Given the description of an element on the screen output the (x, y) to click on. 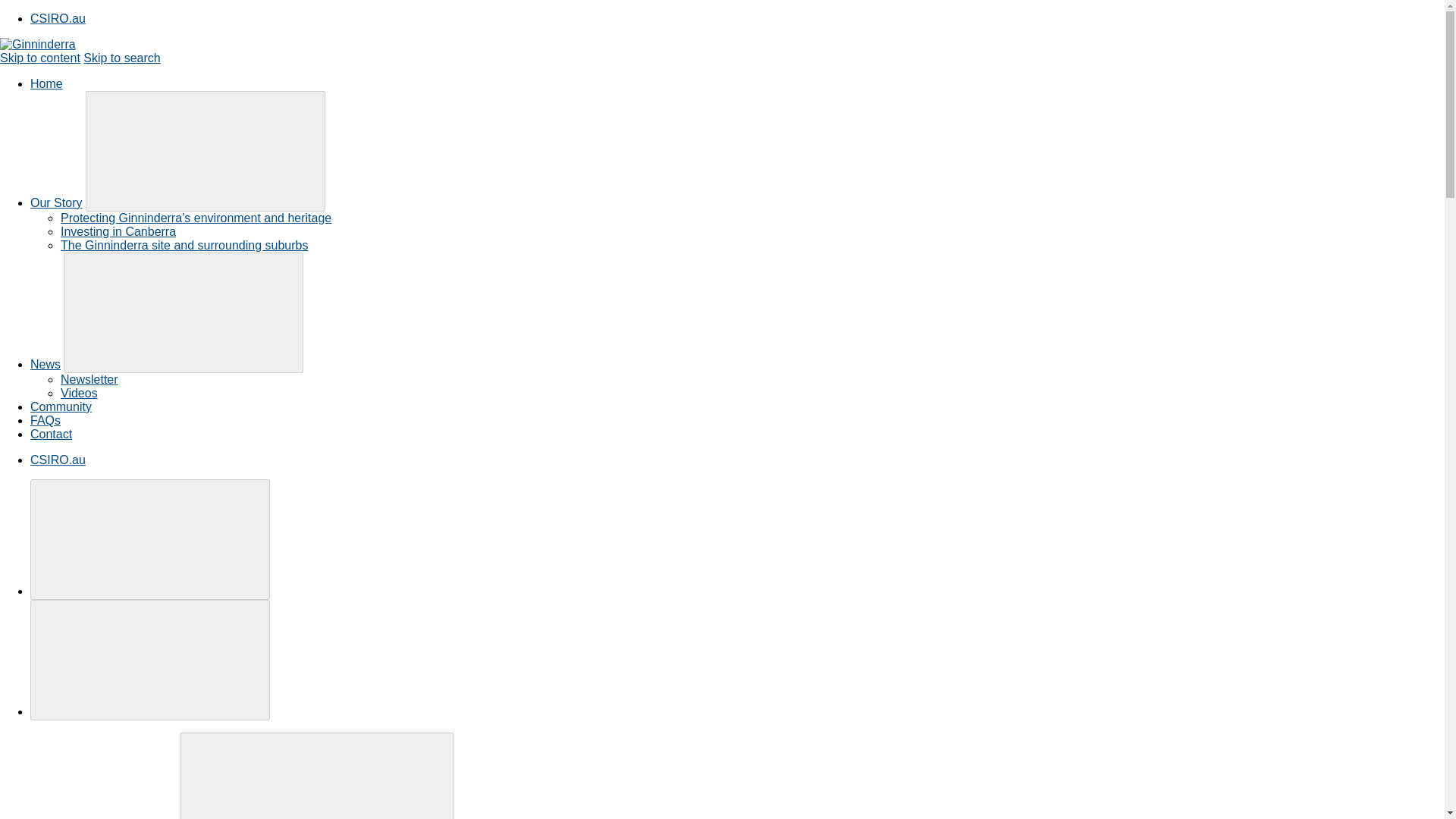
Search (316, 775)
Home (46, 83)
Skip to search (121, 57)
News (45, 364)
Investing in Canberra (118, 231)
The Ginninderra site and surrounding suburbs (184, 245)
Contact (50, 433)
Our Story (55, 202)
Skip to content (40, 57)
Community (60, 406)
